Given the description of an element on the screen output the (x, y) to click on. 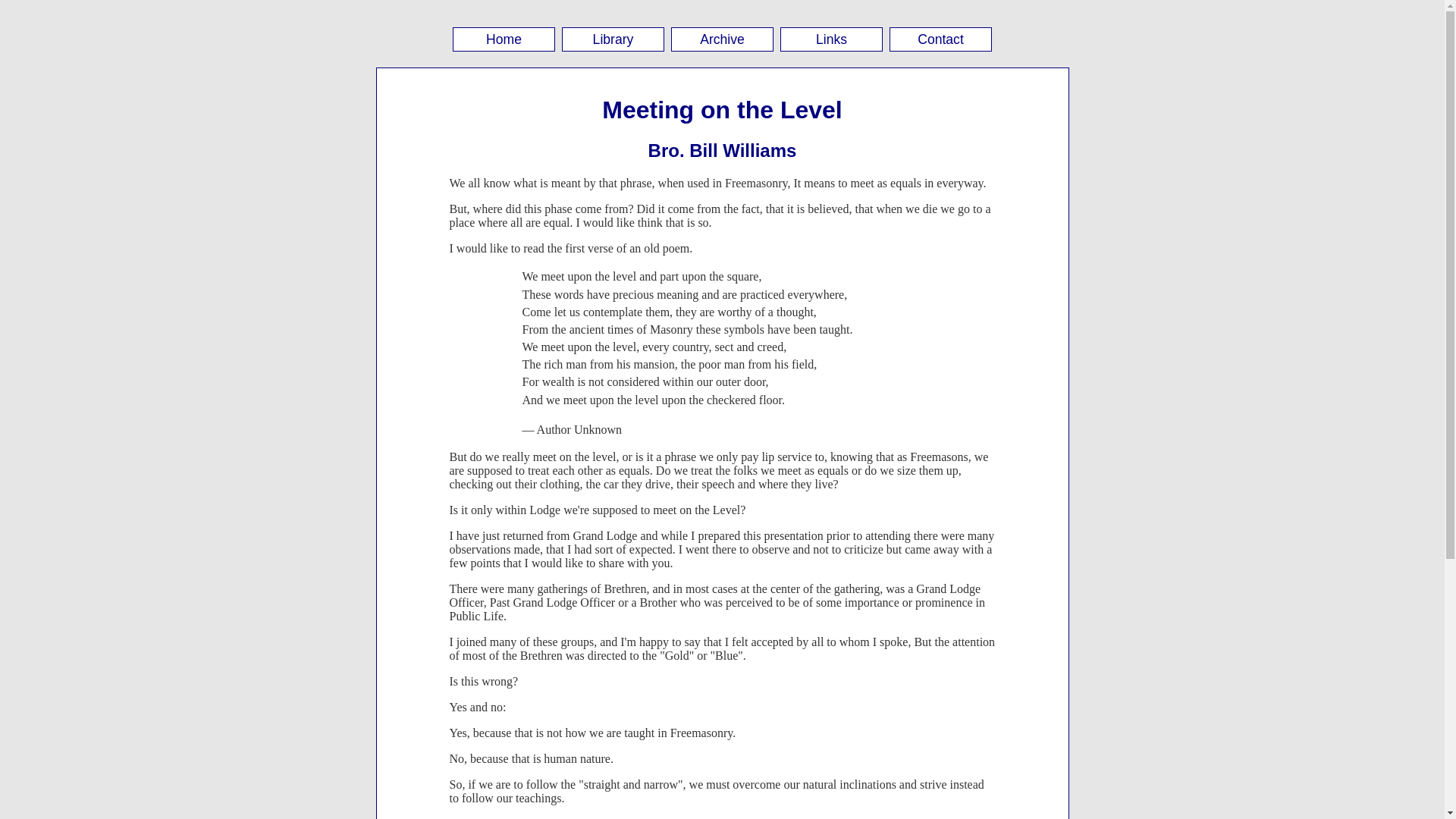
Archive (722, 39)
Home (503, 39)
Library (612, 39)
Links (831, 39)
Contact (940, 39)
